Given the description of an element on the screen output the (x, y) to click on. 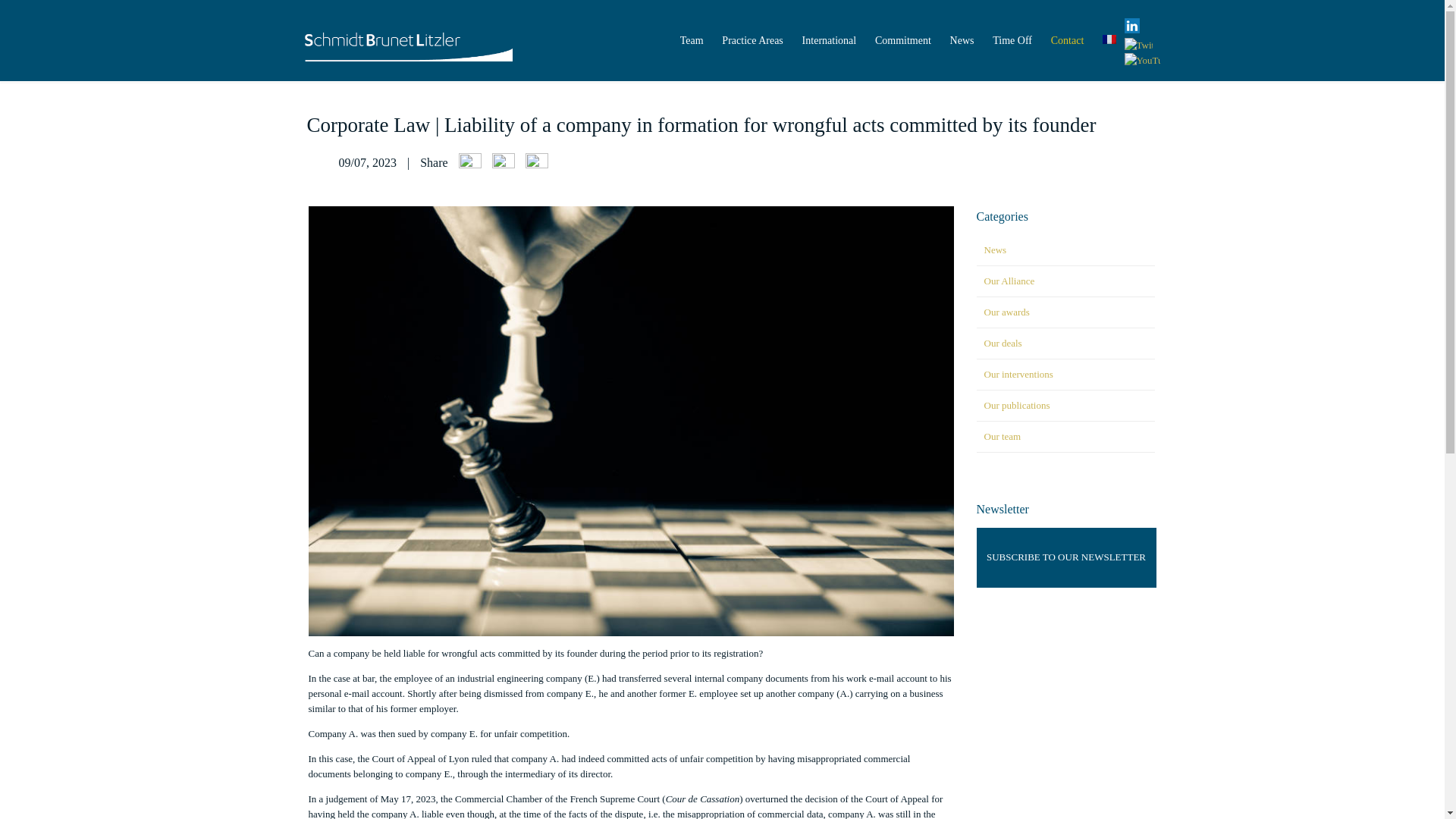
YouTube (1137, 60)
News (961, 40)
LinkedIn (1127, 30)
International (827, 40)
News (995, 249)
Our deals (1003, 342)
Practice Areas (752, 40)
Our Alliance (1009, 280)
Our interventions (1018, 374)
